Given the description of an element on the screen output the (x, y) to click on. 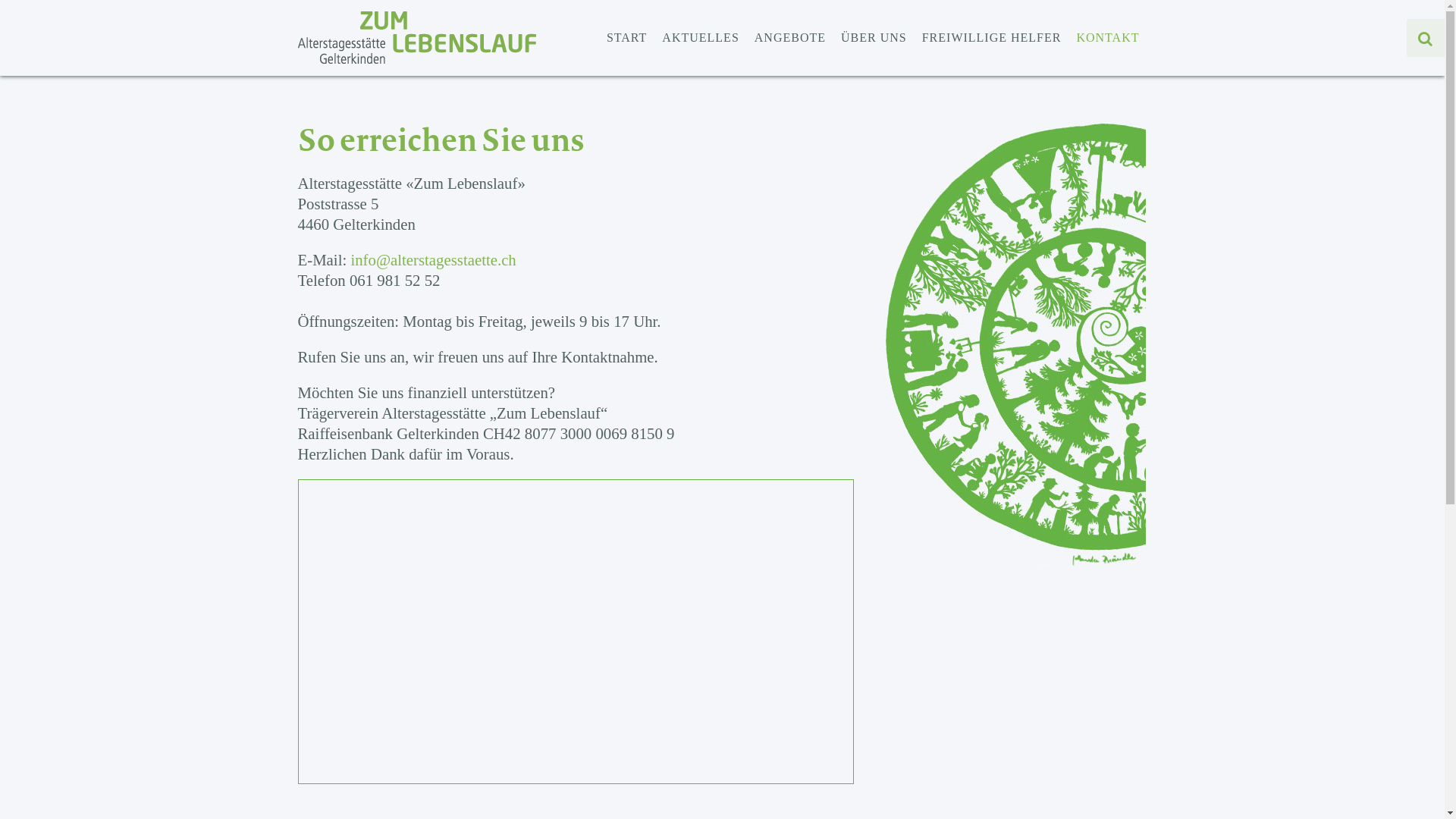
KONTAKT Element type: text (1107, 37)
ANGEBOTE Element type: text (789, 37)
AKTUELLES Element type: text (700, 37)
FREIWILLIGE HELFER Element type: text (991, 37)
START Element type: text (626, 37)
info@alterstagesstaette.ch Element type: text (432, 259)
